Given the description of an element on the screen output the (x, y) to click on. 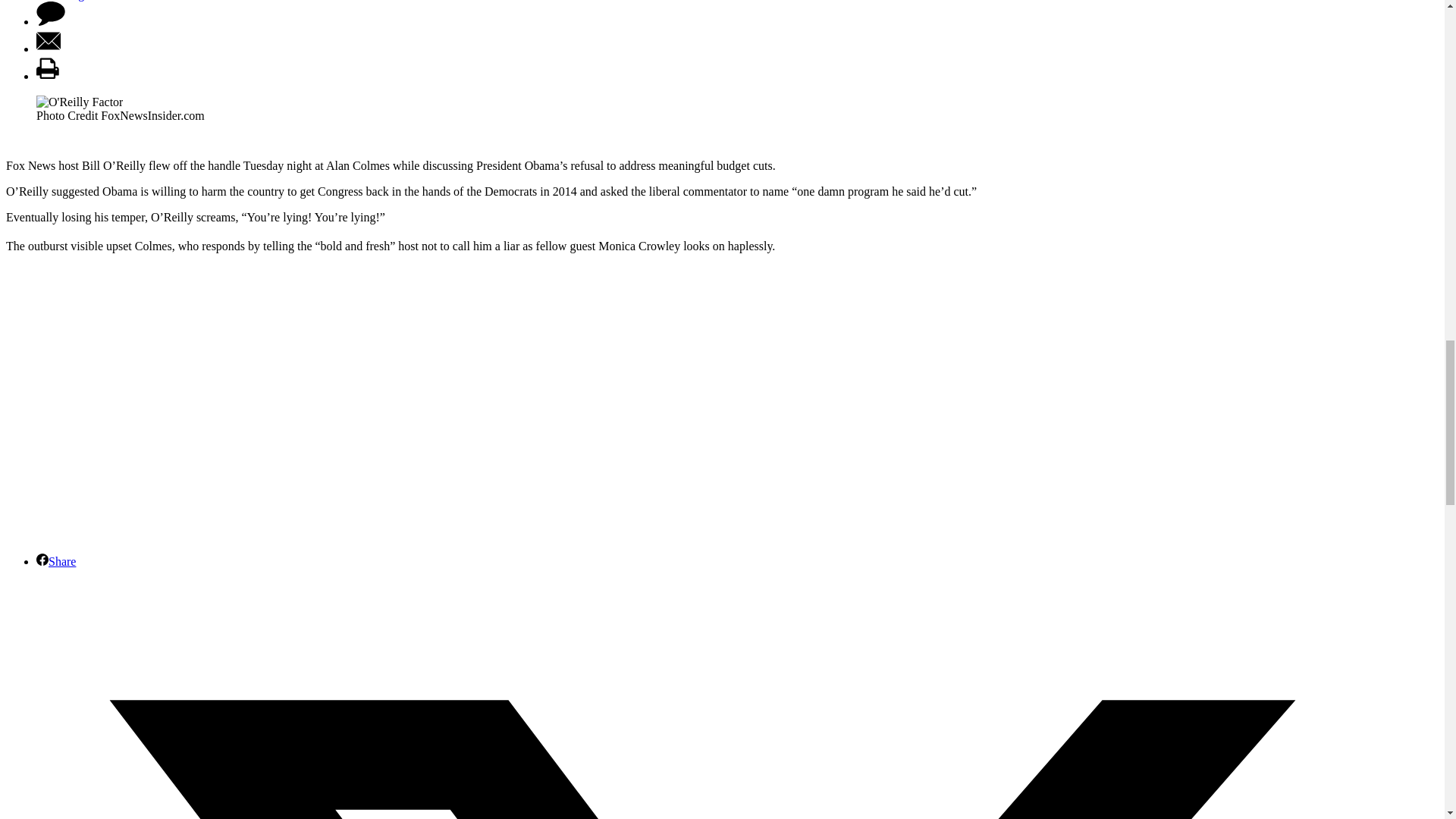
Telegram (69, 0)
Share on Telegram (69, 0)
Share (55, 561)
Share on Share (55, 561)
